Given the description of an element on the screen output the (x, y) to click on. 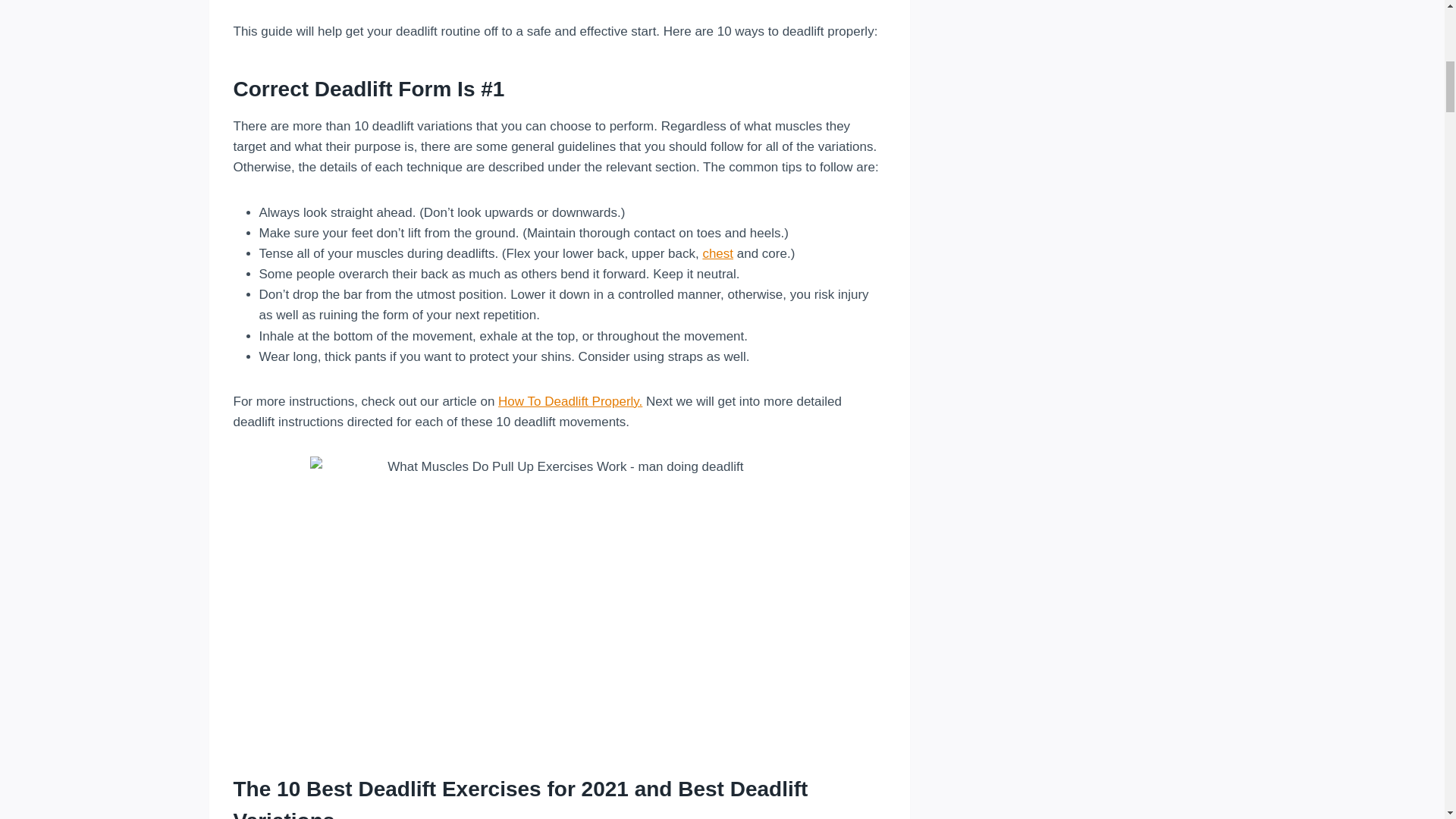
How To Deadlift Properly. (569, 400)
chest (717, 253)
